Given the description of an element on the screen output the (x, y) to click on. 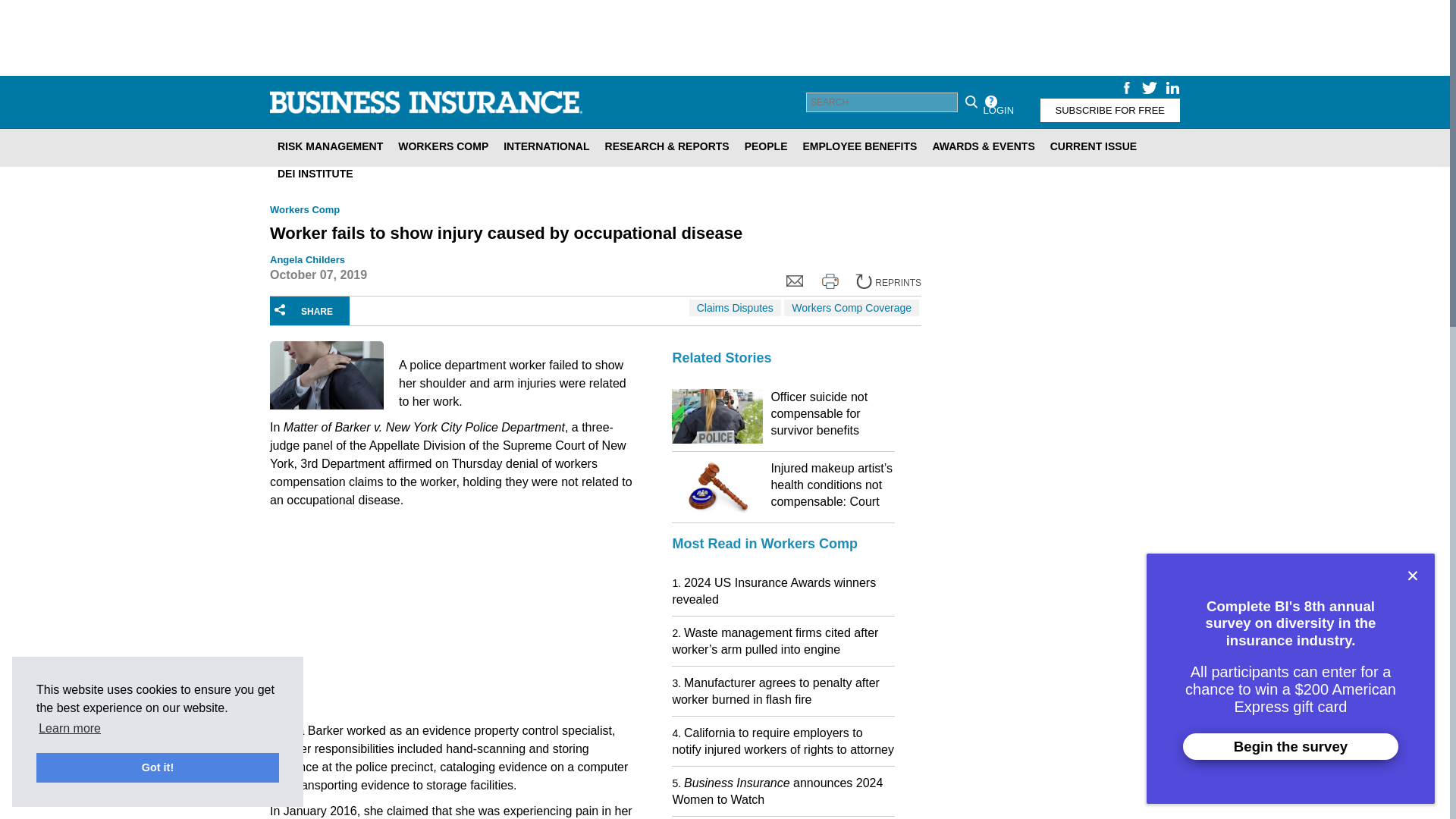
Got it! (157, 767)
WORKERS COMP (443, 145)
RISK MANAGEMENT (329, 145)
Learn more (69, 728)
Help (990, 101)
3rd party ad content (724, 38)
3rd party ad content (383, 619)
SUBSCRIBE FOR FREE (1110, 110)
INTERNATIONAL (546, 145)
3rd party ad content (1057, 768)
LOGIN (998, 110)
